Given the description of an element on the screen output the (x, y) to click on. 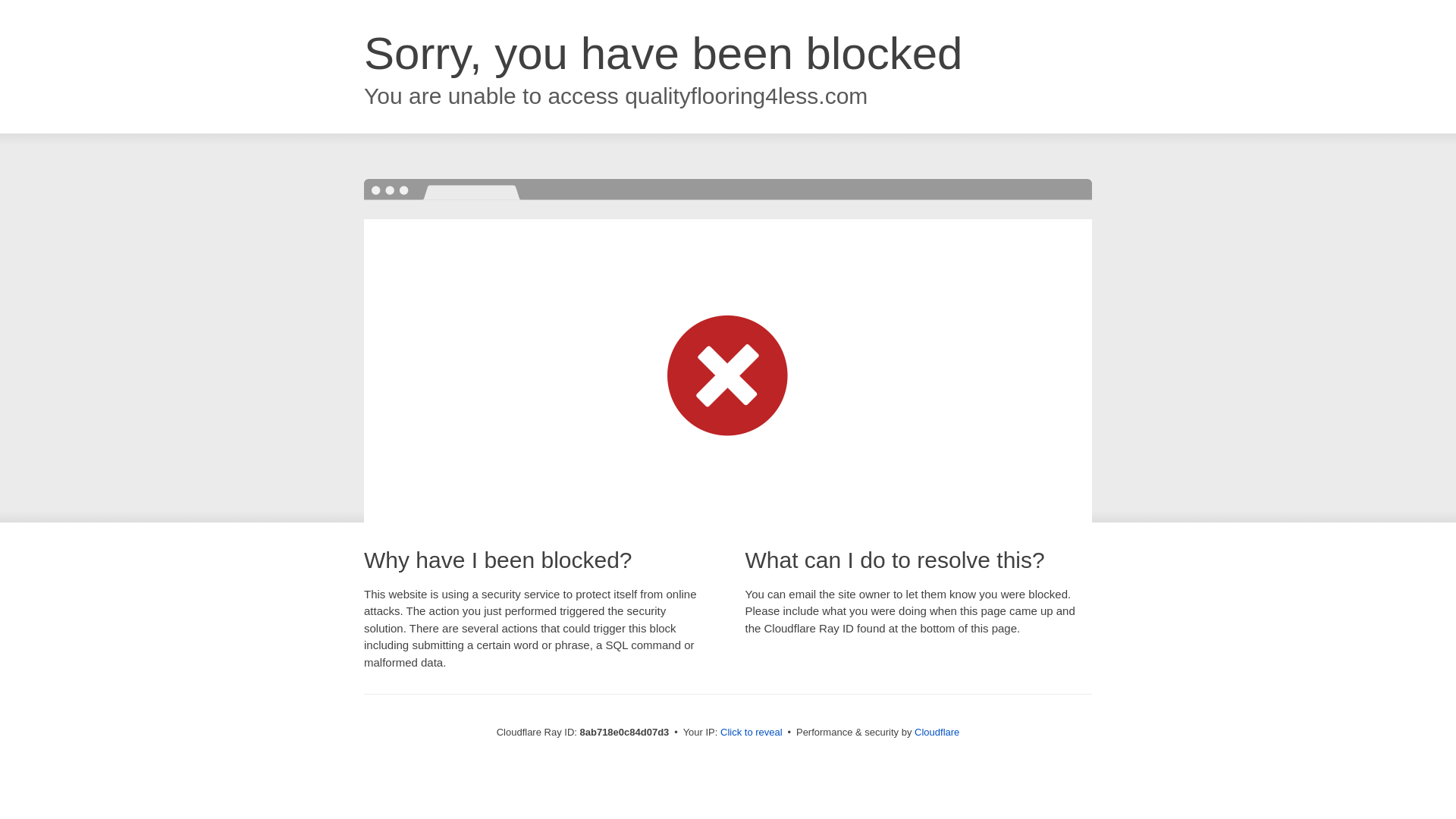
Click to reveal (751, 732)
Cloudflare (936, 731)
